Given the description of an element on the screen output the (x, y) to click on. 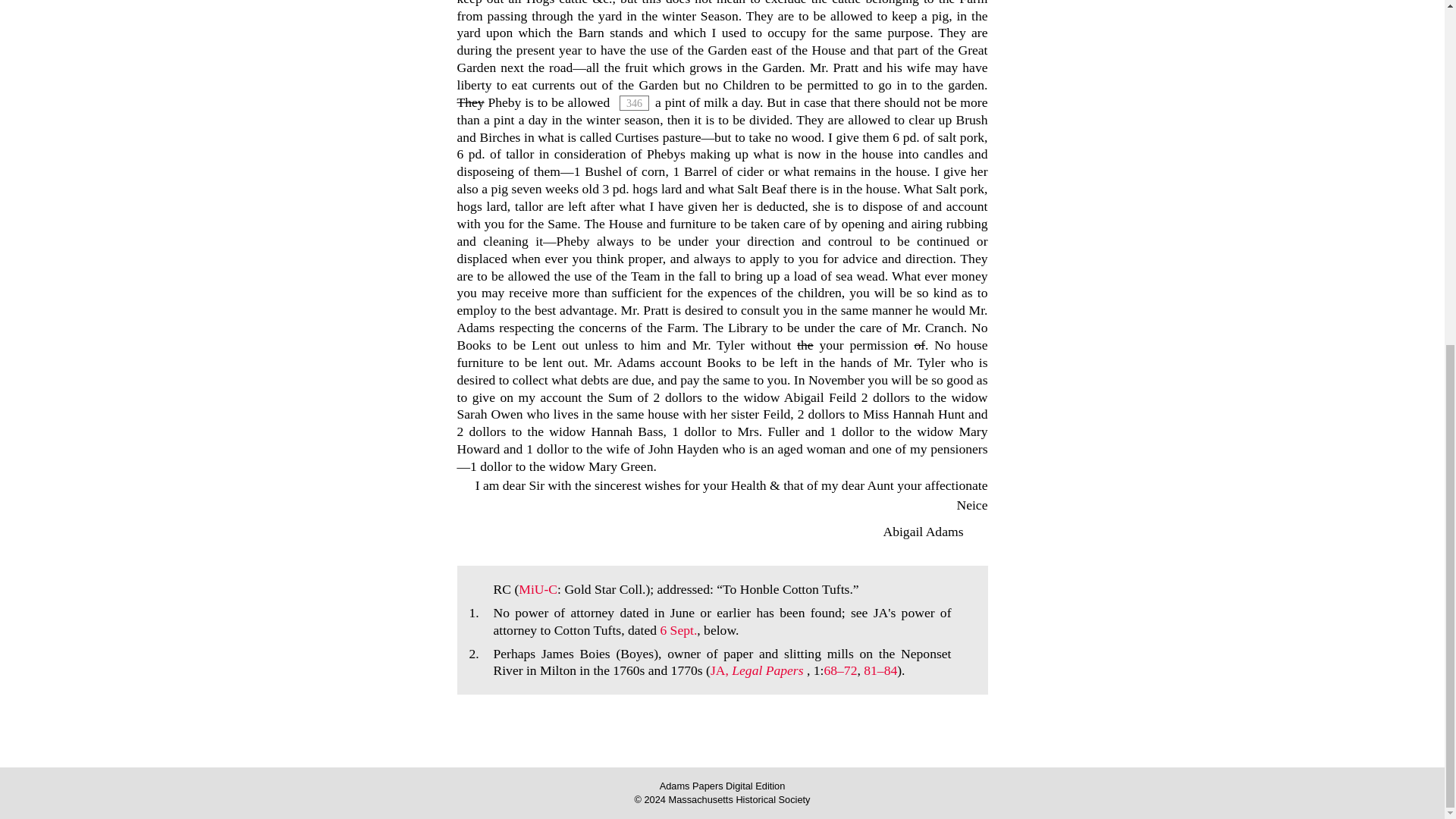
6 Sept. (678, 630)
JA, Legal Papers (758, 670)
MiU-C (537, 589)
